Given the description of an element on the screen output the (x, y) to click on. 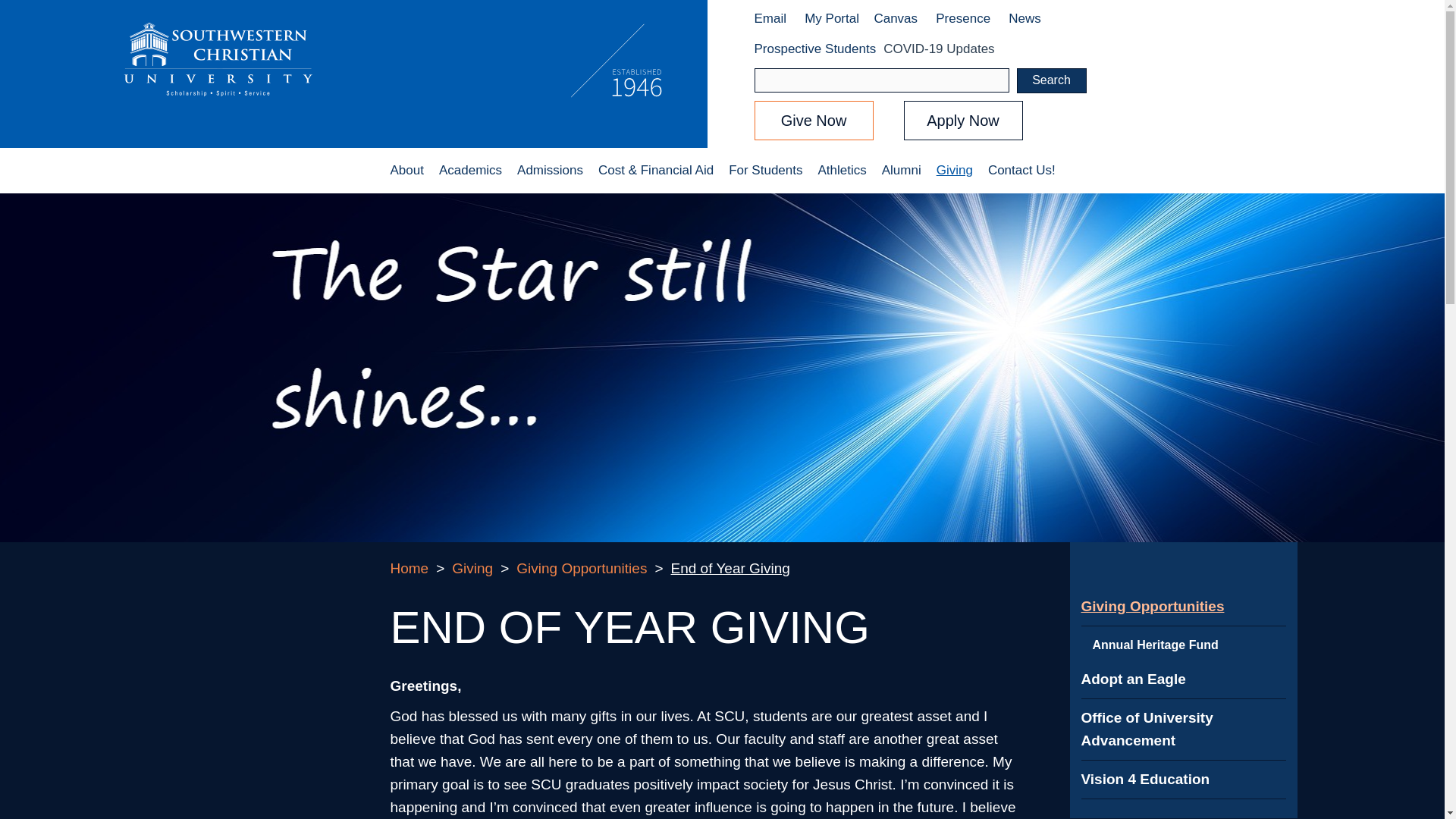
About (406, 170)
Apply Now (963, 120)
My Portal (832, 18)
Search (1051, 80)
Academics (470, 170)
Search (1051, 80)
COVID-19 Updates (938, 48)
News  (1026, 18)
Canvas (895, 18)
Search (1051, 80)
